Given the description of an element on the screen output the (x, y) to click on. 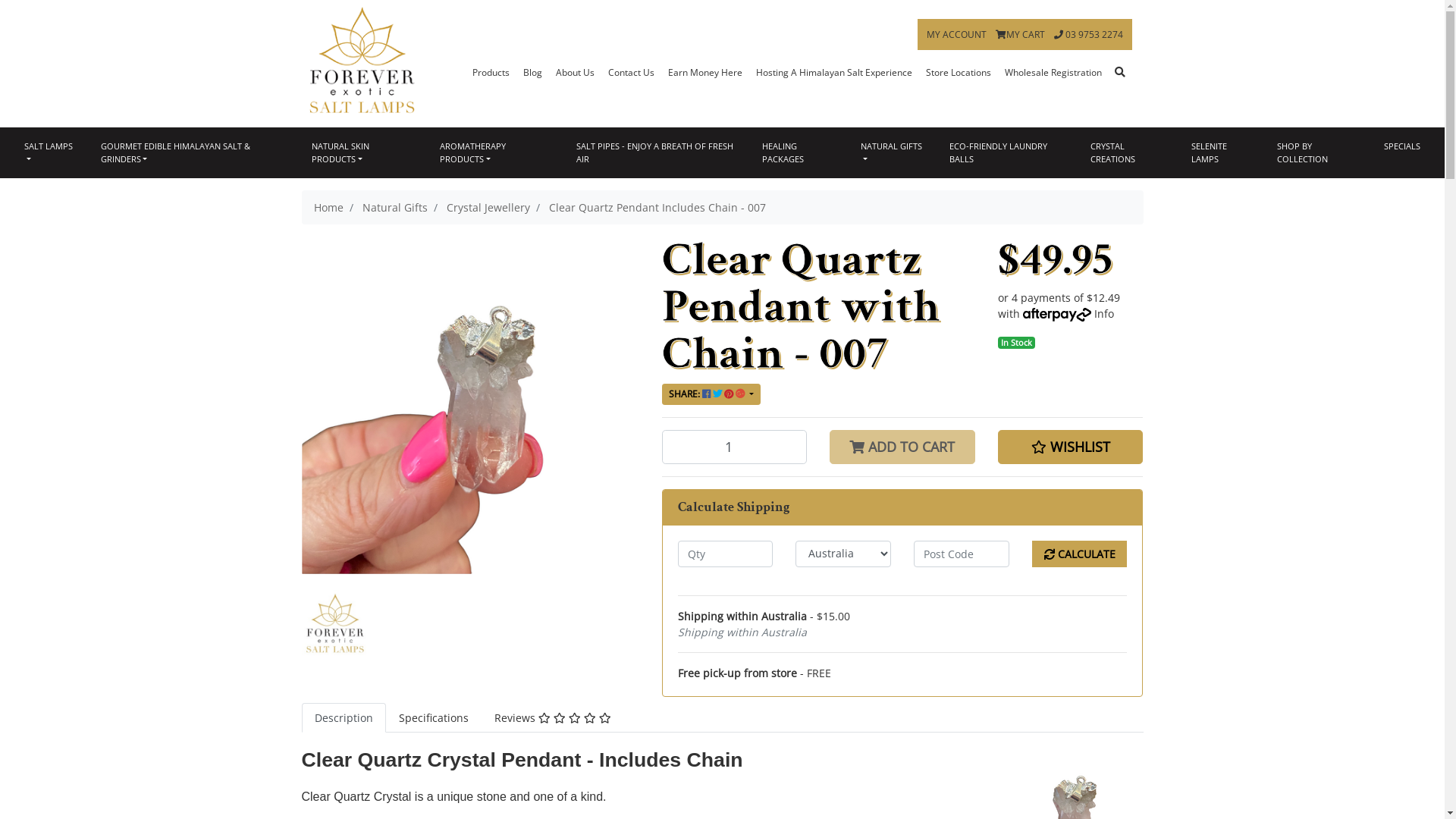
03 9753 2274 Element type: text (1088, 34)
Description Element type: text (343, 717)
Hosting A Himalayan Salt Experience Element type: text (834, 72)
Contact Us Element type: text (631, 72)
About Us Element type: text (575, 72)
WISHLIST Element type: text (1070, 446)
SALT LAMPS Element type: text (49, 152)
Large View Element type: hover (335, 623)
Clear Quartz Pendant Includes Chain - 007 Element type: text (657, 207)
SHARE: Element type: text (710, 393)
Wholesale Registration Element type: text (1053, 72)
Products Element type: text (490, 72)
SPECIALS Element type: text (1402, 146)
Large View Element type: hover (335, 622)
SALT PIPES - ENJOY A BREATH OF FRESH AIR Element type: text (656, 152)
SELENITE LAMPS Element type: text (1221, 152)
Home Element type: text (328, 207)
SHOP BY COLLECTION Element type: text (1317, 152)
Forever Exotic Live Better Element type: hover (362, 59)
Natural Gifts Element type: text (394, 207)
ECO-FRIENDLY LAUNDRY BALLS Element type: text (1006, 152)
AROMATHERAPY PRODUCTS Element type: text (494, 152)
ADD TO CART Element type: text (902, 446)
Specifications Element type: text (432, 717)
Info Element type: text (1103, 313)
CRYSTAL CREATIONS Element type: text (1127, 152)
MY CART Element type: text (1020, 34)
Earn Money Here Element type: text (705, 72)
Store Locations Element type: text (958, 72)
GOURMET EDIBLE HIMALAYAN SALT & GRINDERS Element type: text (192, 152)
HEALING PACKAGES Element type: text (798, 152)
MY ACCOUNT Element type: text (956, 34)
NATURAL SKIN PRODUCTS Element type: text (362, 152)
Blog Element type: text (532, 72)
Crystal Jewellery Element type: text (487, 207)
CALCULATE Element type: text (1079, 553)
NATURAL GIFTS Element type: text (891, 152)
Reviews Element type: text (551, 717)
